Given the description of an element on the screen output the (x, y) to click on. 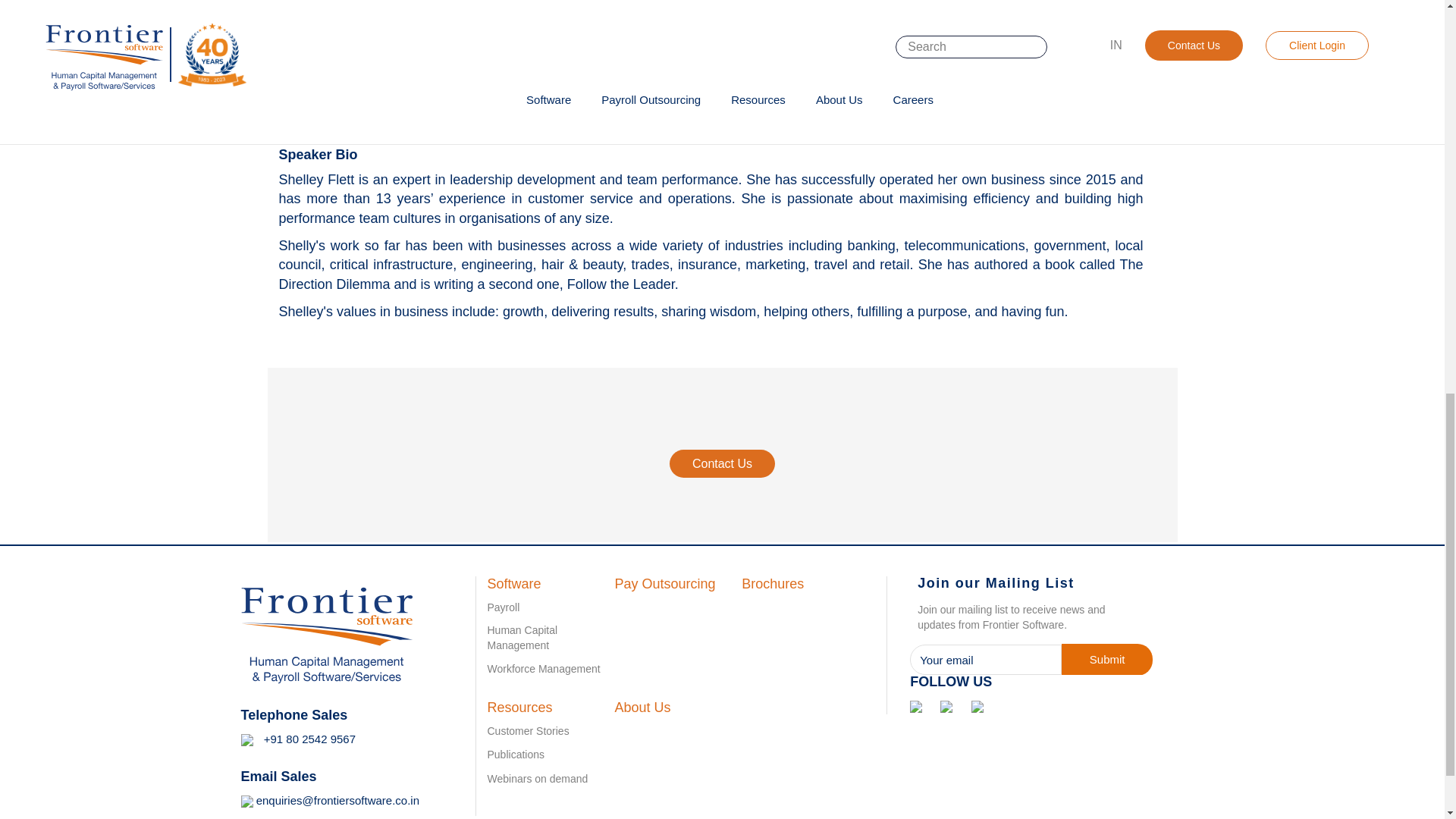
Follow us on Twitter (976, 705)
Follow us on Facebook (915, 705)
Follow us on LinkedIn (946, 705)
